Given the description of an element on the screen output the (x, y) to click on. 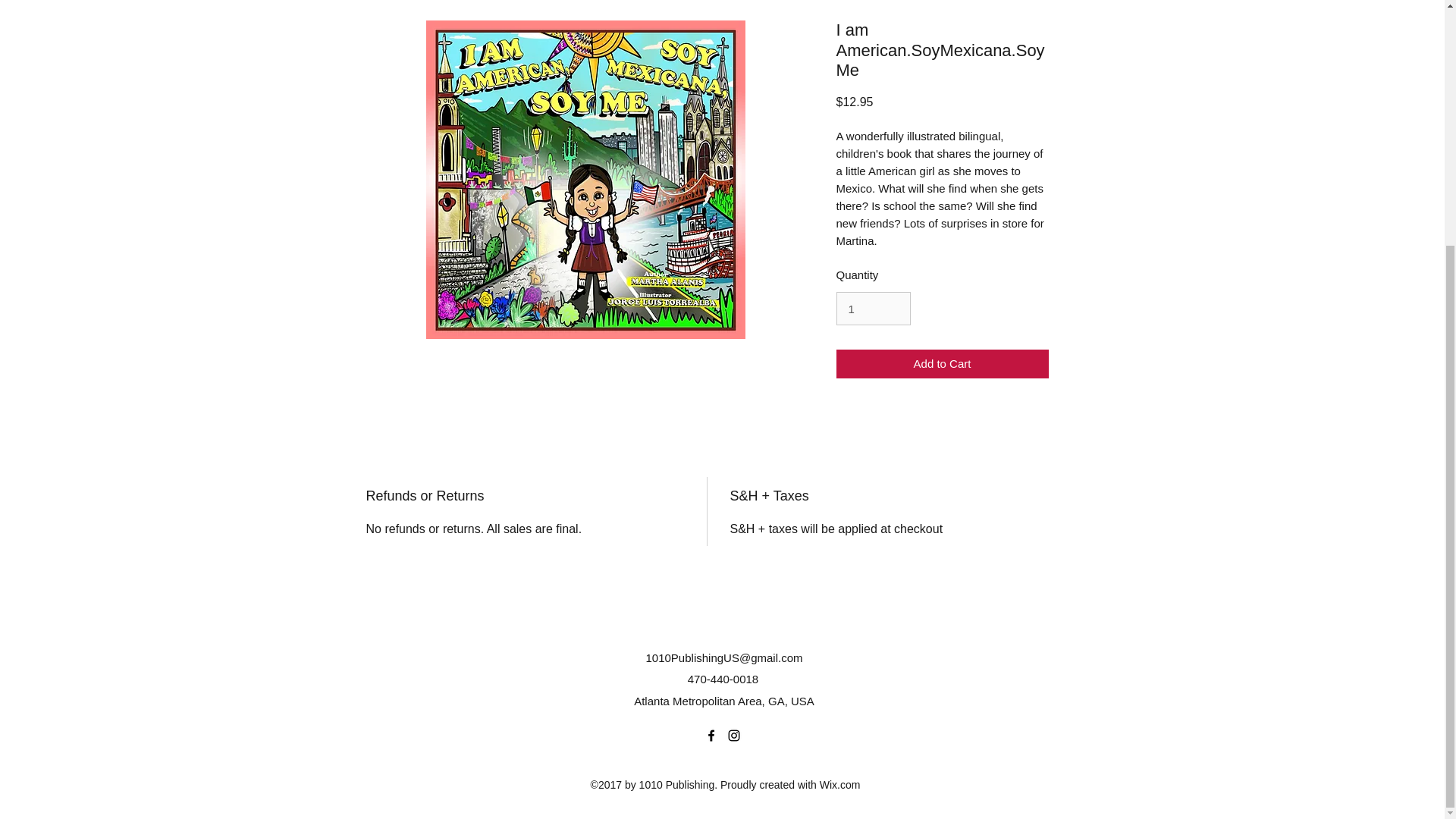
1 (872, 308)
Add to Cart (941, 364)
